Given the description of an element on the screen output the (x, y) to click on. 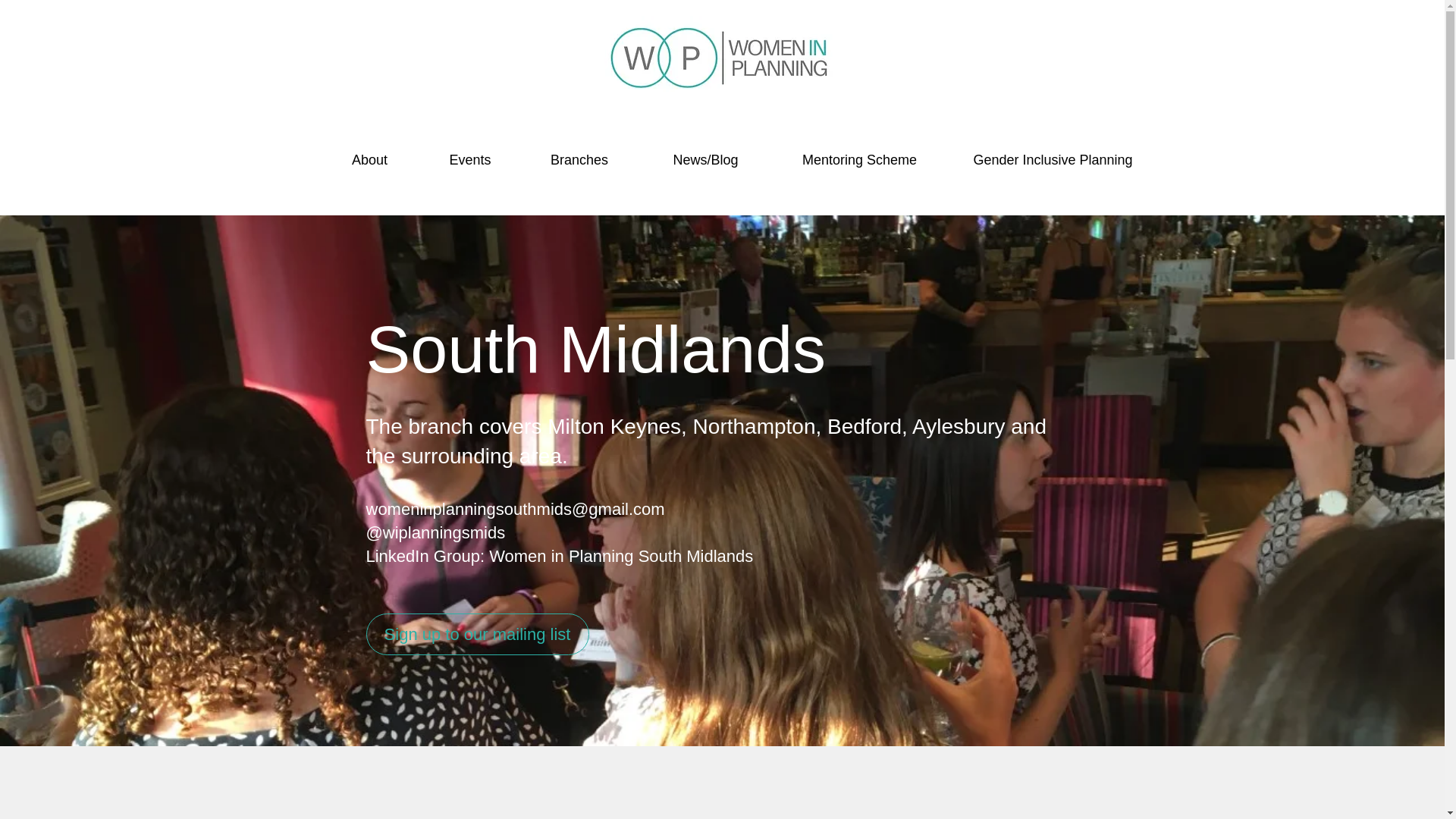
About (370, 153)
Mentoring Scheme (859, 153)
Events (470, 153)
Sign up to our mailing list (476, 634)
Gender Inclusive Planning (1053, 153)
Branches (578, 153)
